Given the description of an element on the screen output the (x, y) to click on. 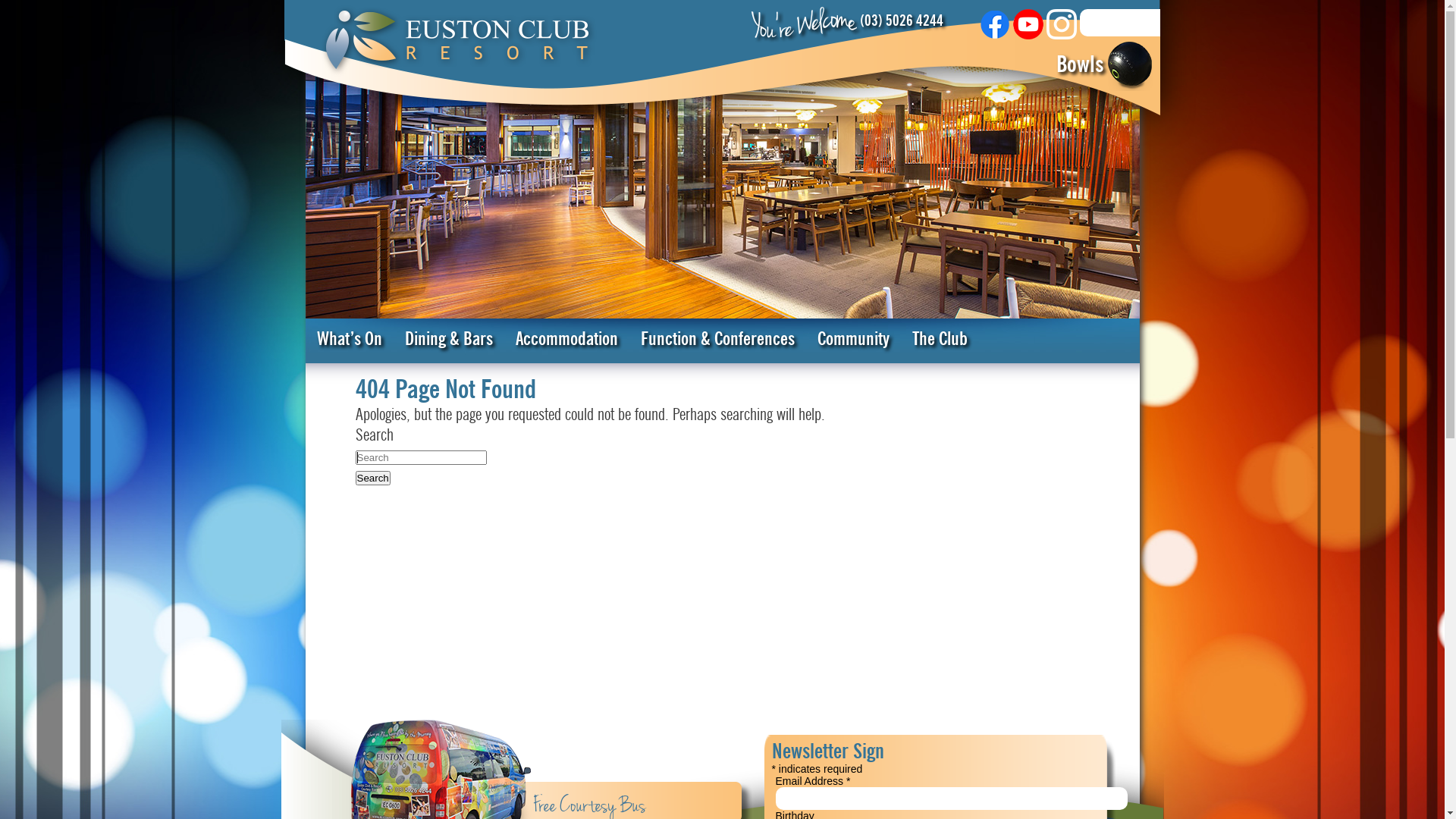
(03) 5026 4244 Element type: text (901, 21)
Accommodation Element type: text (565, 340)
Community Element type: text (852, 340)
The Club Element type: text (939, 340)
Dining & Bars Element type: text (447, 340)
Function & Conferences Element type: text (717, 340)
Search Element type: text (371, 477)
